Given the description of an element on the screen output the (x, y) to click on. 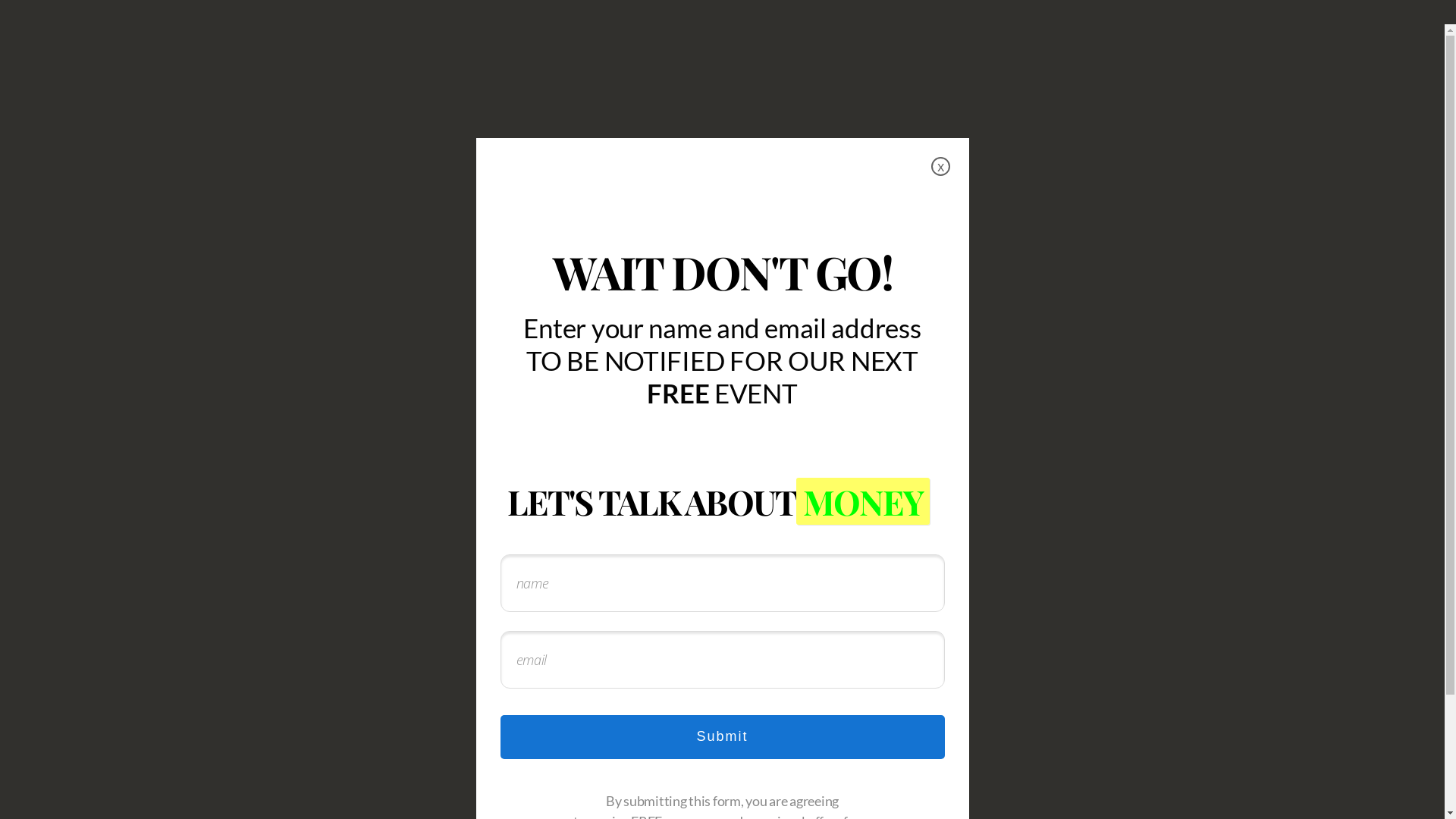
x Element type: text (940, 165)
Submit Element type: text (722, 737)
